Given the description of an element on the screen output the (x, y) to click on. 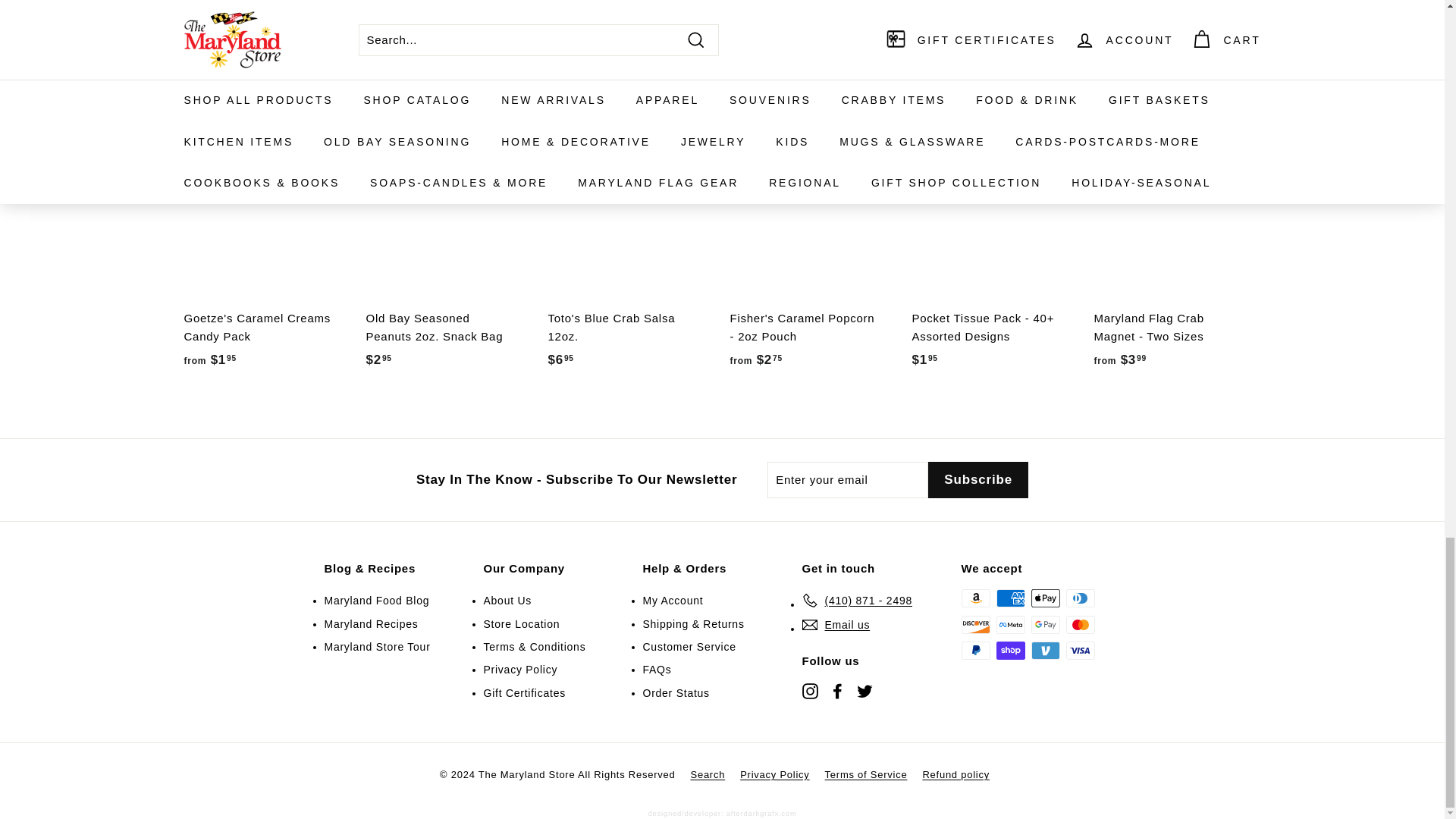
The Maryland Store on Instagram (810, 690)
Discover (975, 624)
The Maryland Store on Twitter (864, 690)
Amazon (975, 597)
Apple Pay (1044, 597)
Mastercard (1079, 624)
Diners Club (1079, 597)
The Maryland Store on Facebook (837, 690)
PayPal (975, 650)
Meta Pay (1010, 624)
